Given the description of an element on the screen output the (x, y) to click on. 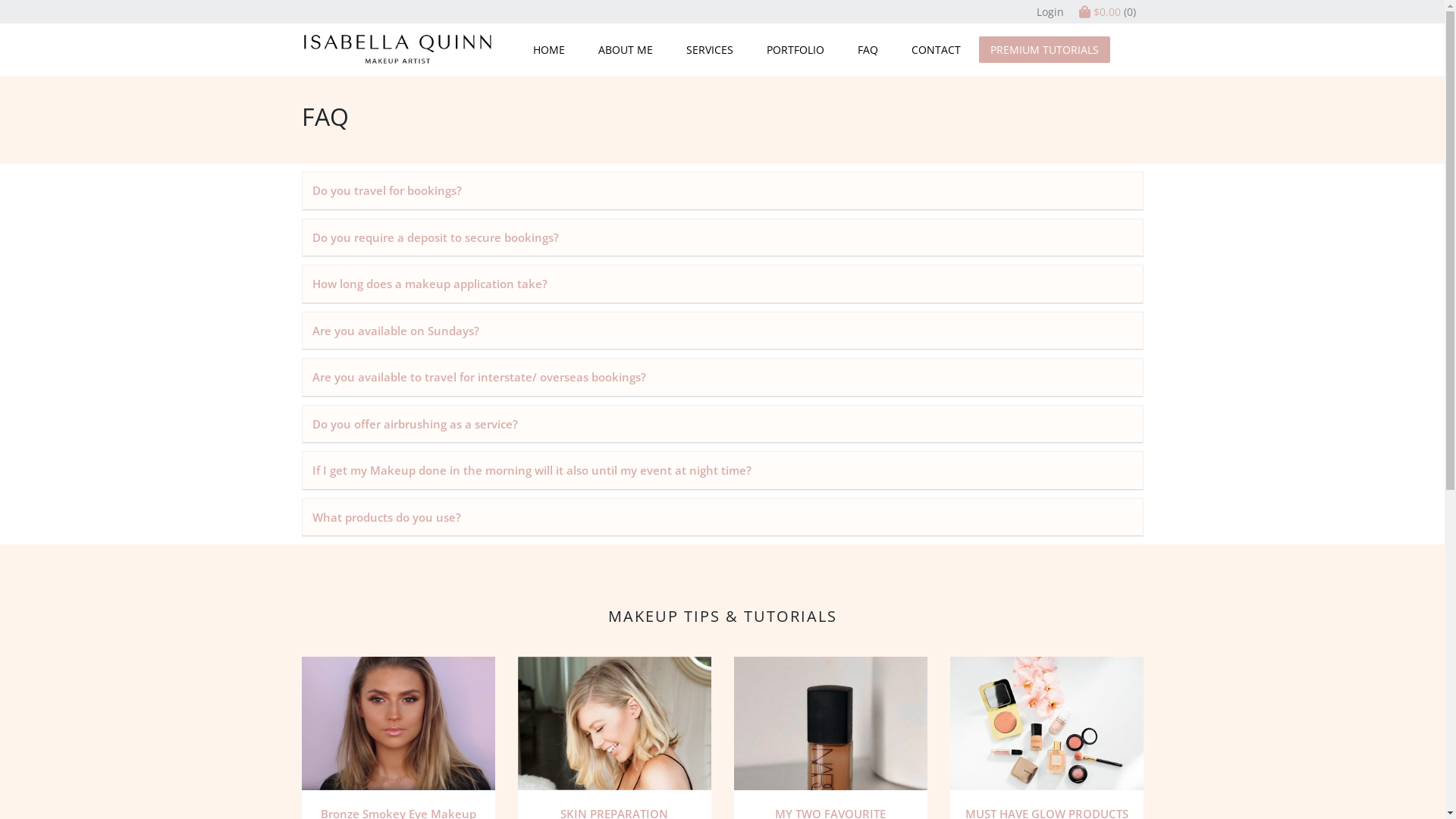
$0.00 (0) Element type: text (1106, 11)
PORTFOLIO Element type: text (794, 49)
PREMIUM TUTORIALS Element type: text (1043, 49)
ABOUT ME Element type: text (624, 49)
CONTACT Element type: text (935, 49)
SERVICES Element type: text (708, 49)
Login Element type: text (1049, 11)
HOME Element type: text (548, 49)
FAQ Element type: text (866, 49)
